Given the description of an element on the screen output the (x, y) to click on. 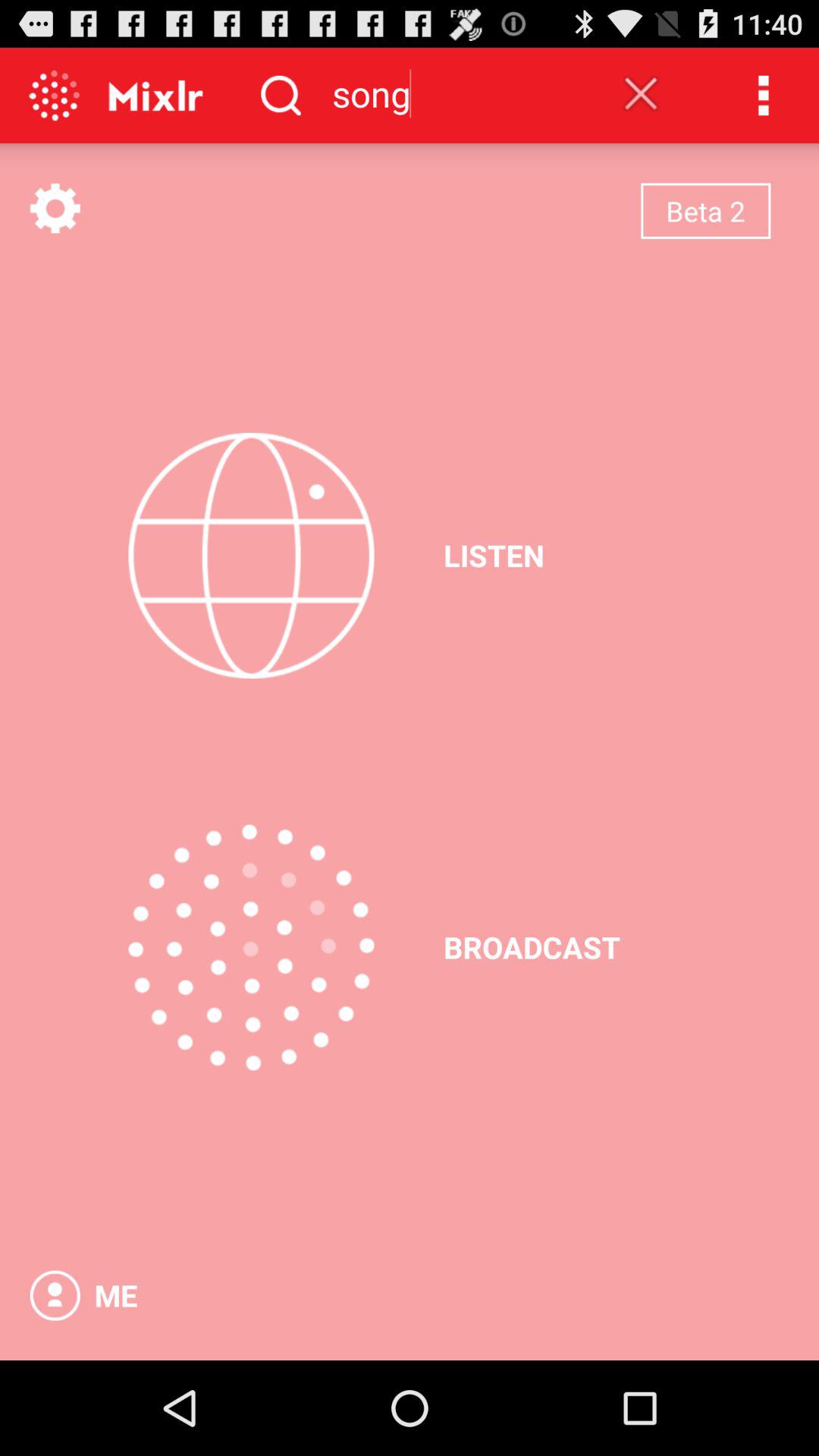
see menu (55, 208)
